Given the description of an element on the screen output the (x, y) to click on. 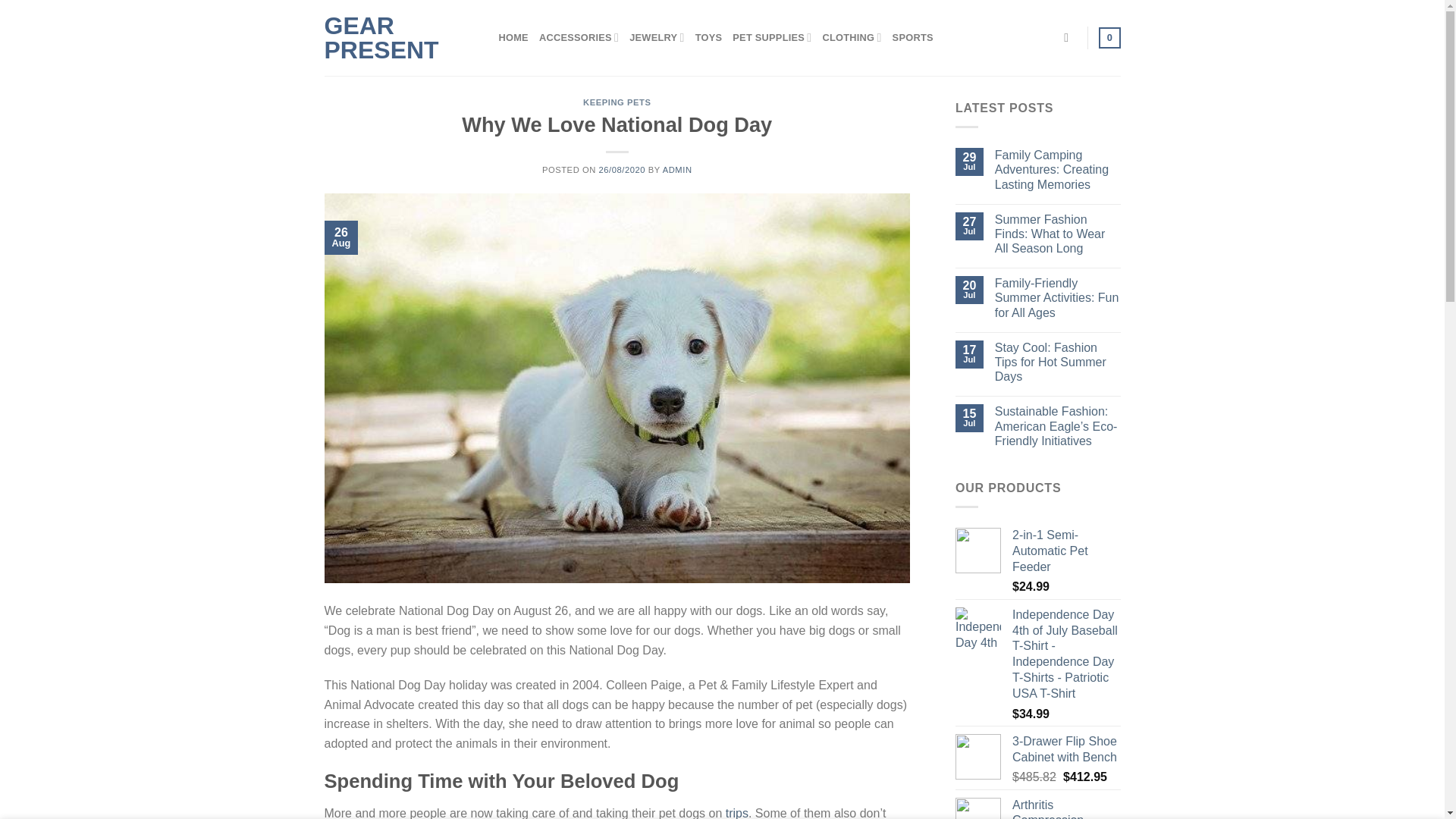
GEAR PRESENT (400, 37)
JEWELRY (656, 37)
Stay Cool: Fashion Tips for Hot Summer Days (1057, 362)
CLOTHING (851, 37)
ACCESSORIES (578, 37)
PET SUPPLIES (771, 37)
Gear Present - Welcome to Our Store (400, 37)
Summer Fashion Finds: What to Wear All Season Long (1057, 234)
TOYS (708, 37)
Family Camping Adventures: Creating Lasting Memories (1057, 169)
